Given the description of an element on the screen output the (x, y) to click on. 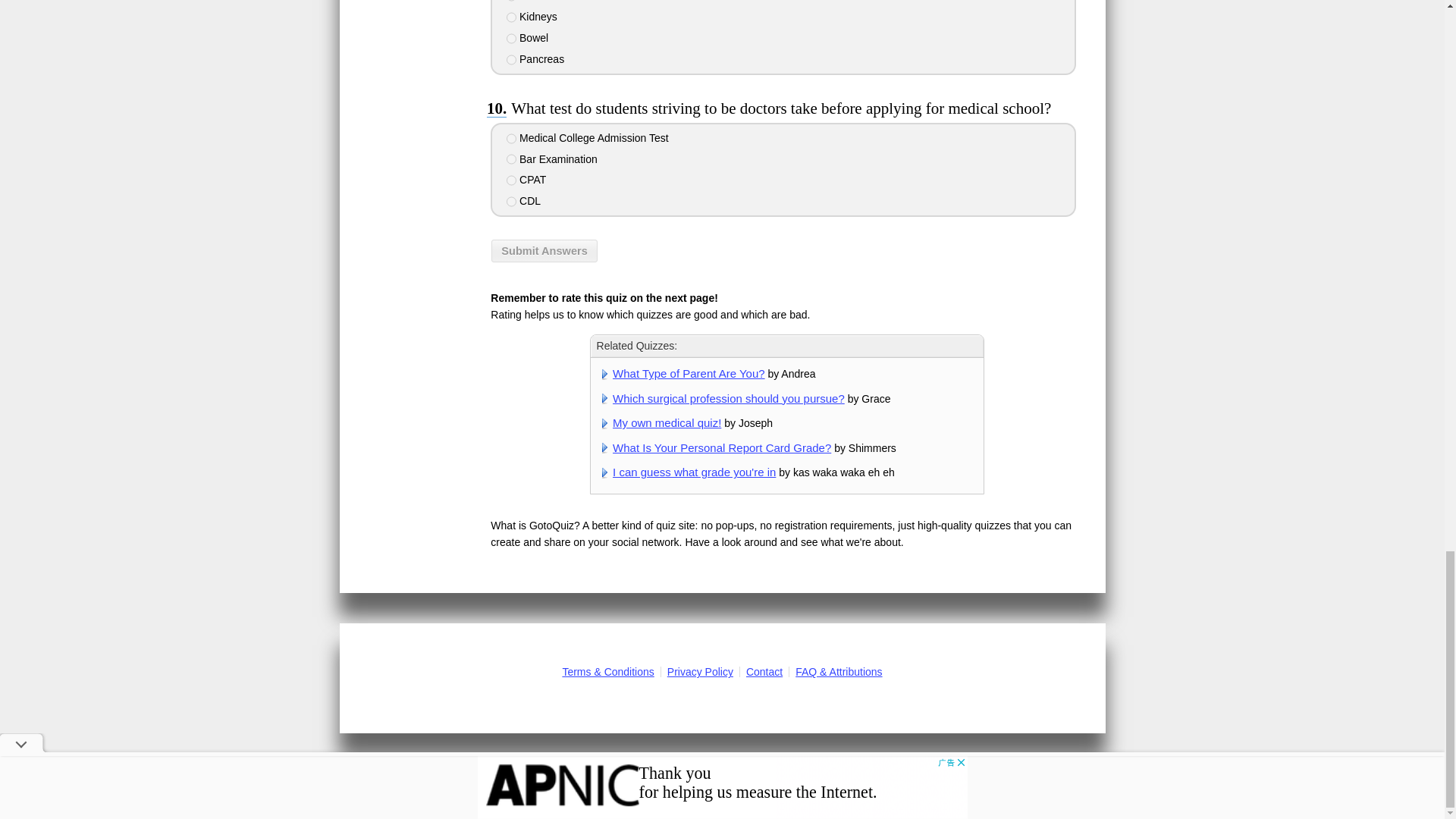
What Type of Parent Are You? (688, 373)
My own medical quiz! (666, 422)
What Is Your Personal Report Card Grade? (721, 447)
I can guess what grade you're in (694, 472)
Contact (764, 671)
Submit Answers (544, 250)
Which surgical profession should you pursue? (728, 398)
Privacy Policy (699, 671)
